Given the description of an element on the screen output the (x, y) to click on. 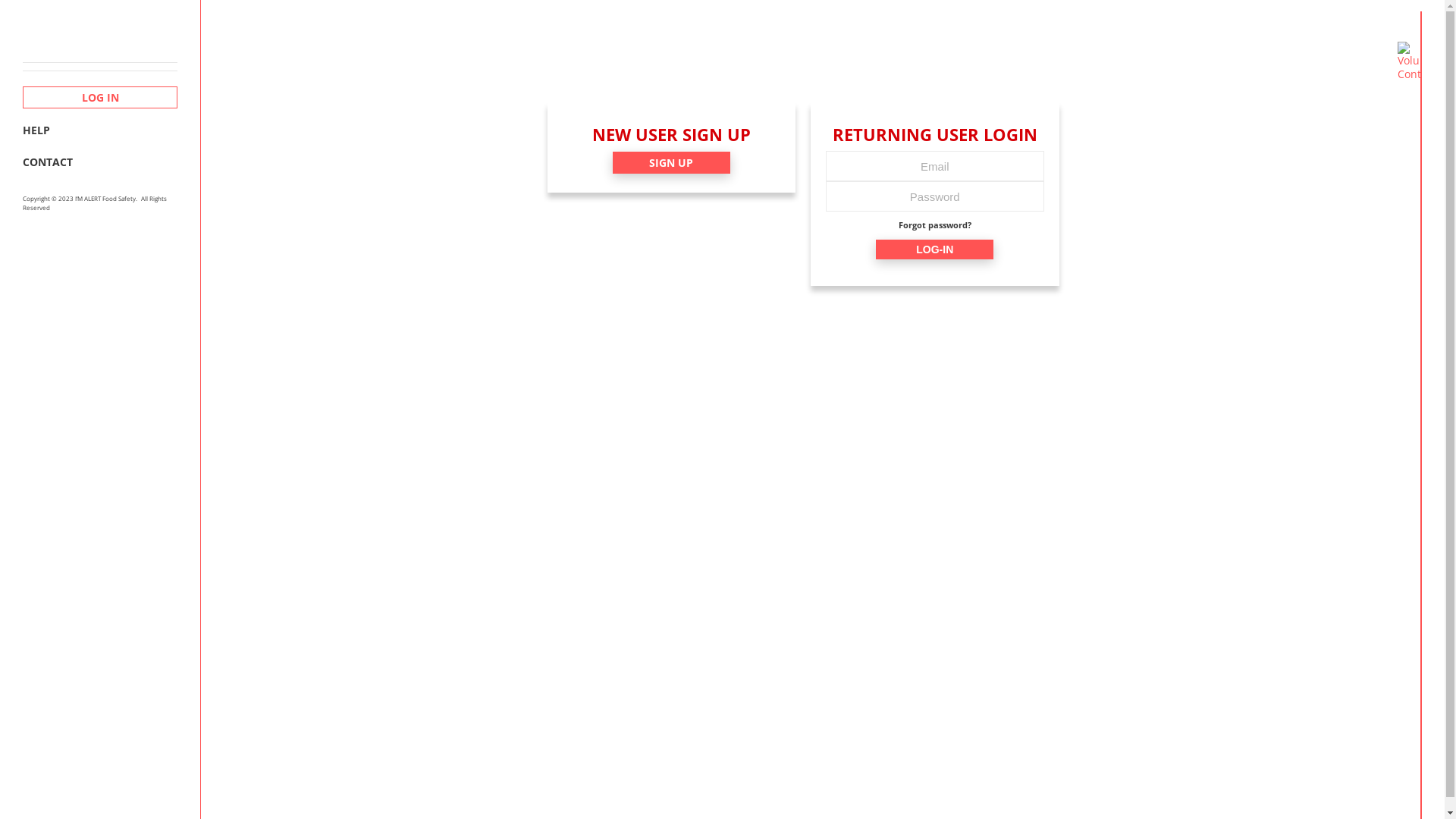
Forgot password? Element type: text (934, 225)
CONTACT Element type: text (99, 162)
HELP Element type: text (99, 130)
SIGN UP Element type: text (671, 162)
LOG IN Element type: text (99, 97)
LOG-IN Element type: text (934, 249)
